Given the description of an element on the screen output the (x, y) to click on. 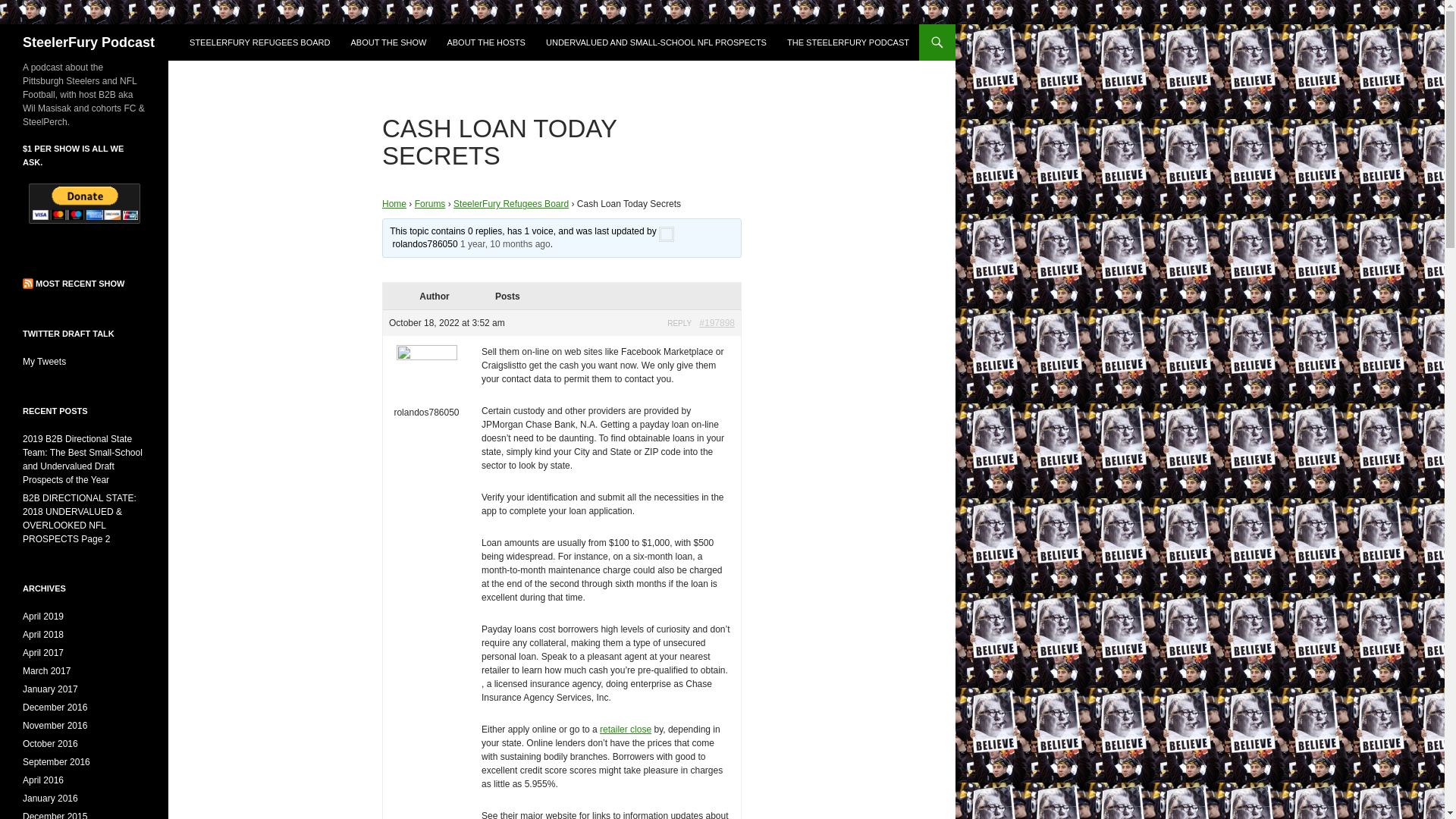
December 2016 (55, 706)
September 2016 (56, 761)
November 2016 (55, 725)
April 2019 (43, 615)
April 2018 (43, 634)
STEELERFURY REFUGEES BOARD (259, 42)
January 2016 (50, 798)
SteelerFury Podcast (88, 42)
January 2017 (50, 688)
Forums (429, 204)
